Given the description of an element on the screen output the (x, y) to click on. 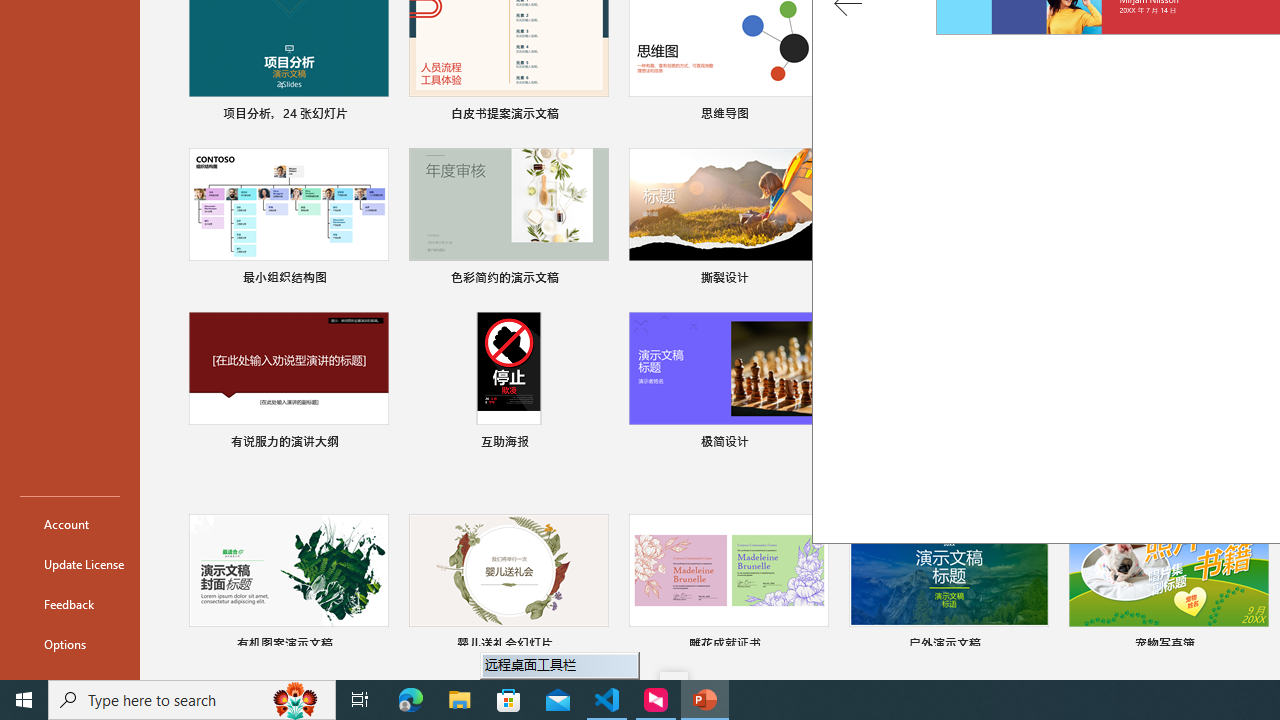
Update License (69, 563)
Pin to list (1255, 645)
